Given the description of an element on the screen output the (x, y) to click on. 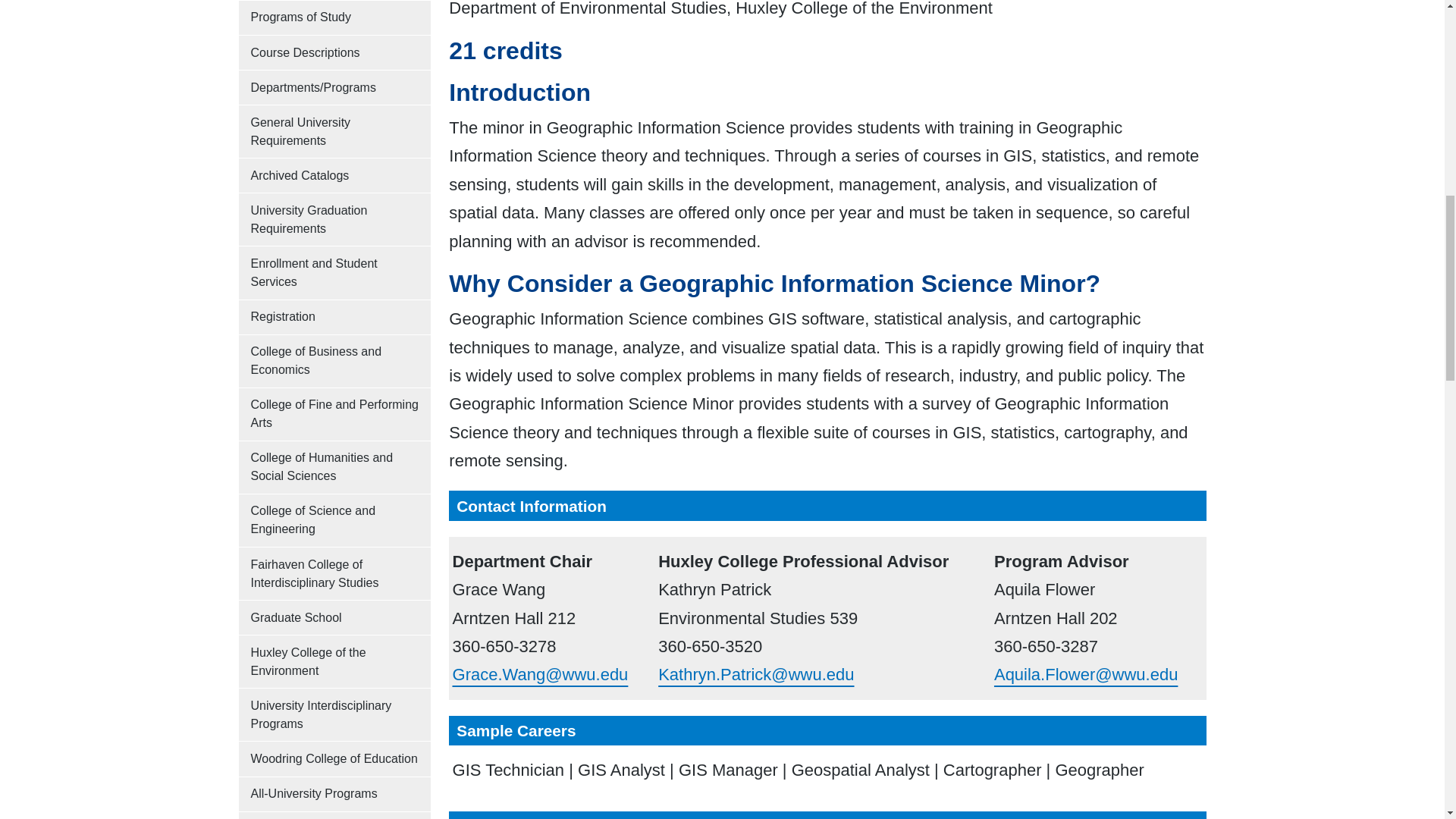
College of Fine and Performing Arts (334, 414)
Course Descriptions (334, 52)
Registration (334, 317)
College of Business and Economics (334, 360)
Archived Catalogs (334, 175)
Enrollment and Student Services (334, 272)
Huxley College of the Environment (334, 661)
Graduate School (334, 617)
College of Science and Engineering (334, 520)
General University Requirements (334, 131)
